Given the description of an element on the screen output the (x, y) to click on. 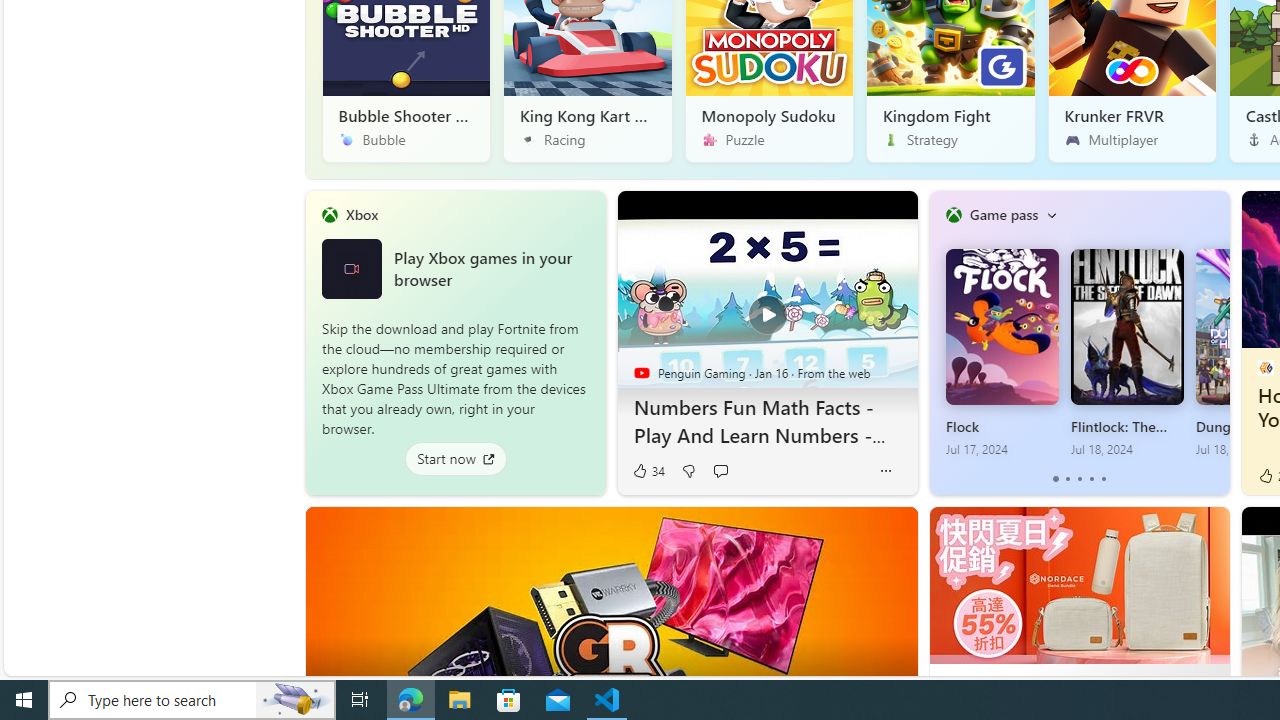
tab-4 (1102, 479)
Start now (454, 458)
tab-1 (1067, 479)
Game pass (1003, 214)
34 Like (648, 471)
Hide this story (857, 530)
Flock Jul 17, 2024 (1001, 353)
Penguin Gaming (641, 372)
Class: next-flipper (1218, 342)
Flintlock: The Siege of Dawn Jul 18, 2024 (1127, 353)
